Given the description of an element on the screen output the (x, y) to click on. 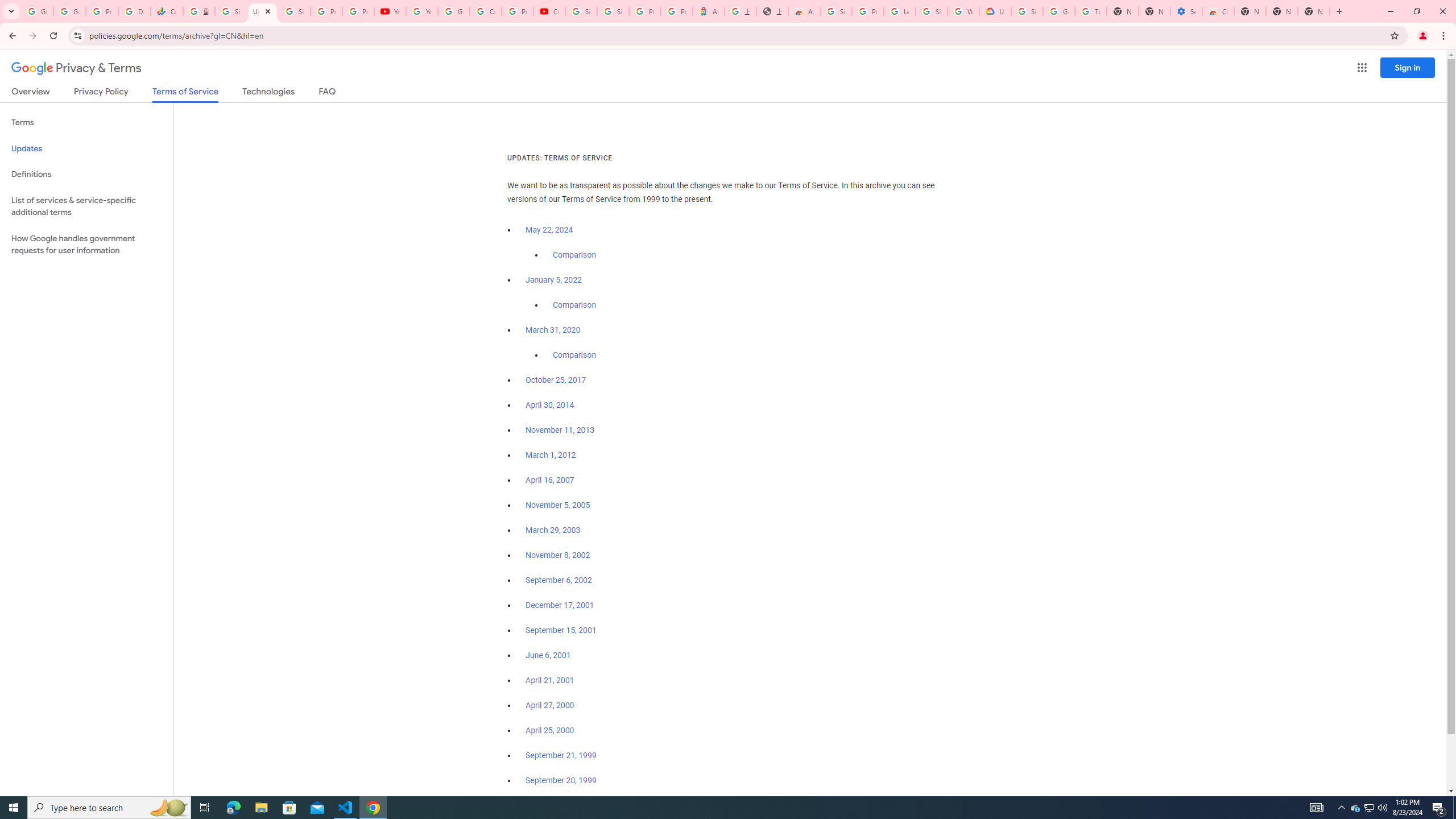
March 1, 2012 (550, 455)
Currencies - Google Finance (166, 11)
April 16, 2007 (550, 480)
Atour Hotel - Google hotels (708, 11)
Sign in - Google Accounts (581, 11)
Chrome Web Store - Accessibility extensions (1217, 11)
Google Workspace Admin Community (37, 11)
